Given the description of an element on the screen output the (x, y) to click on. 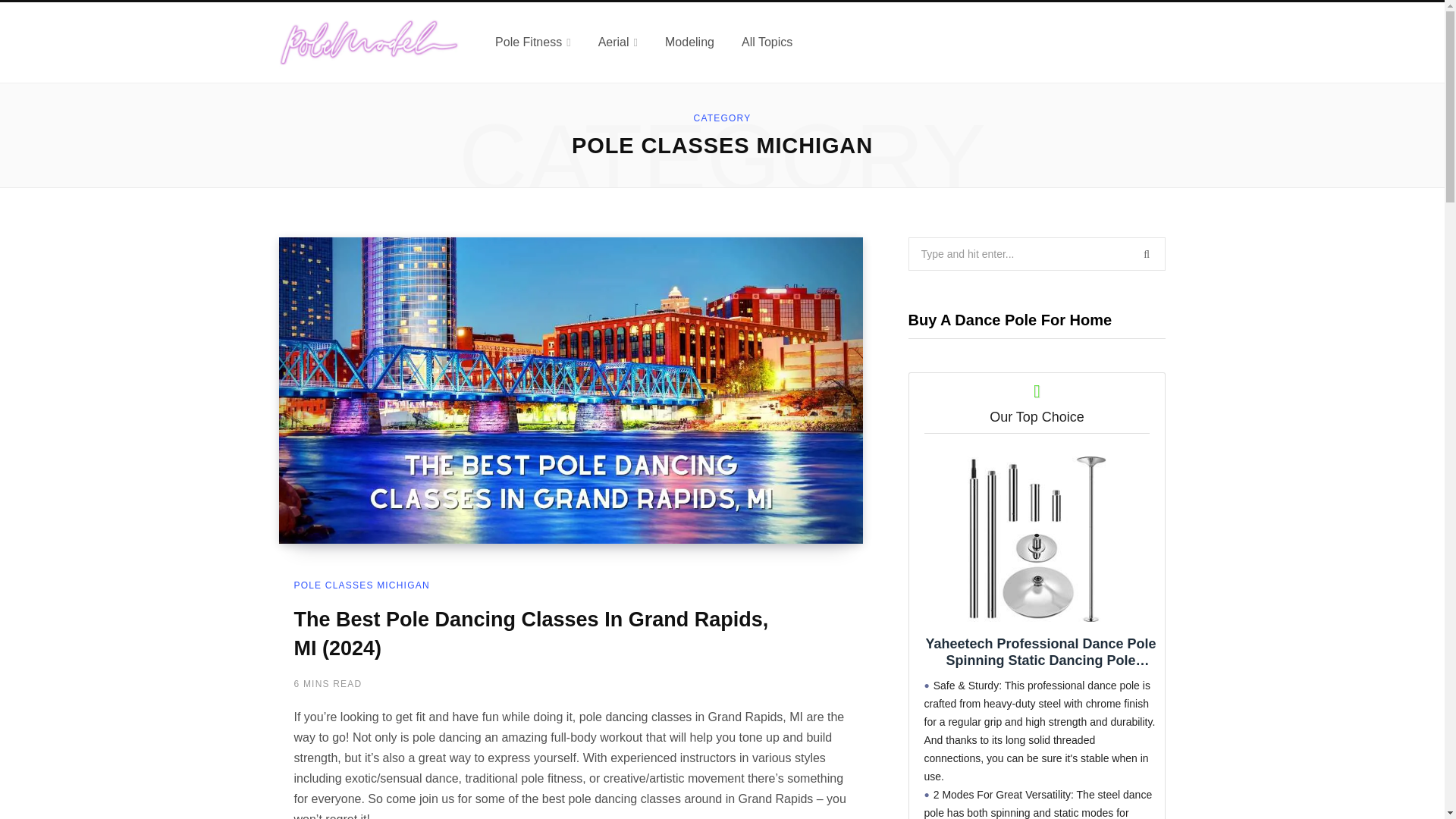
Search for: (1037, 254)
All Topics (767, 41)
Pole Fitness (533, 41)
POLE CLASSES MICHIGAN (361, 584)
Modeling (689, 41)
Aerial (617, 41)
Pole Model (369, 42)
